Given the description of an element on the screen output the (x, y) to click on. 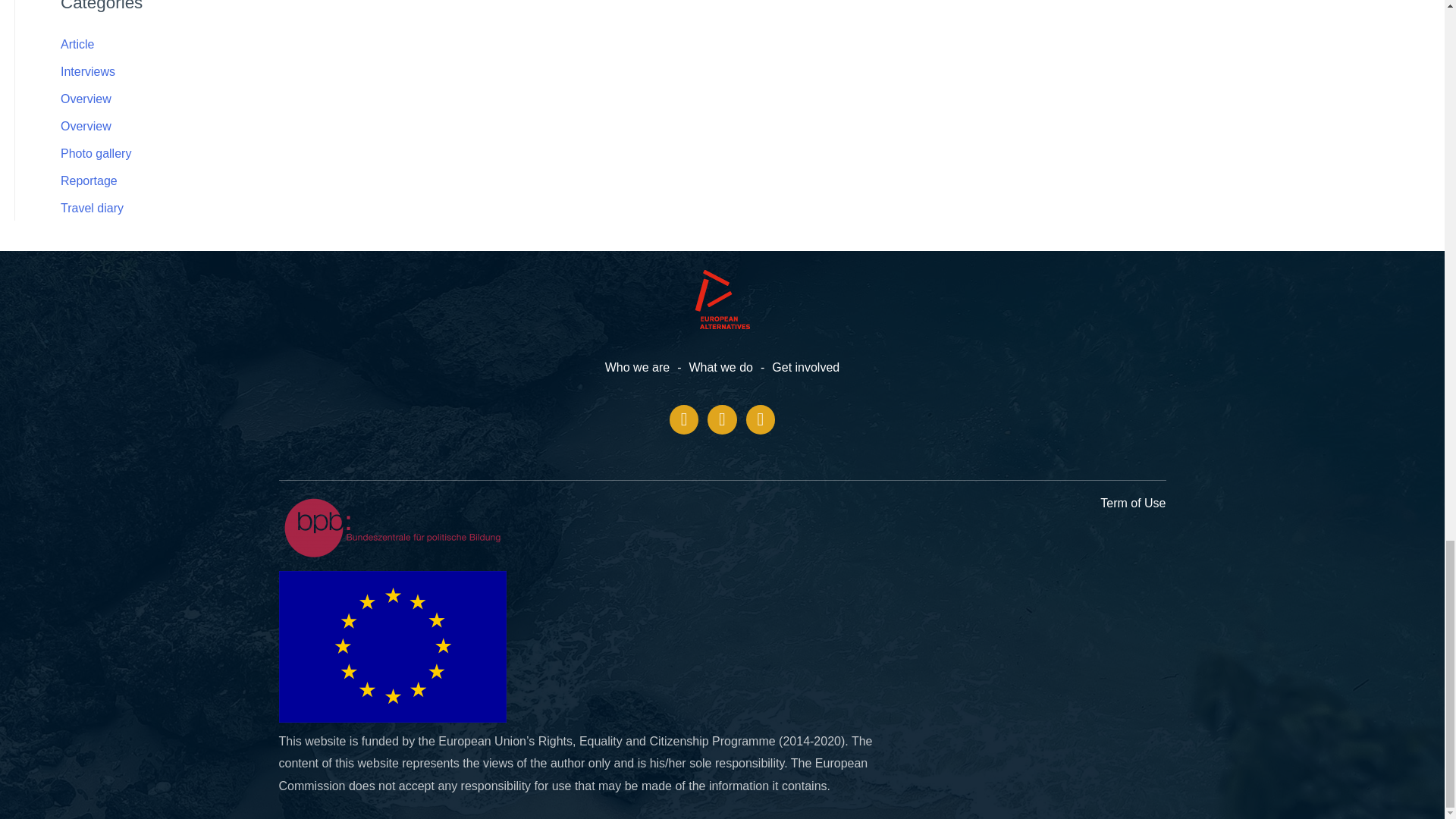
Article (77, 43)
Interviews (88, 71)
Overview (86, 98)
